Given the description of an element on the screen output the (x, y) to click on. 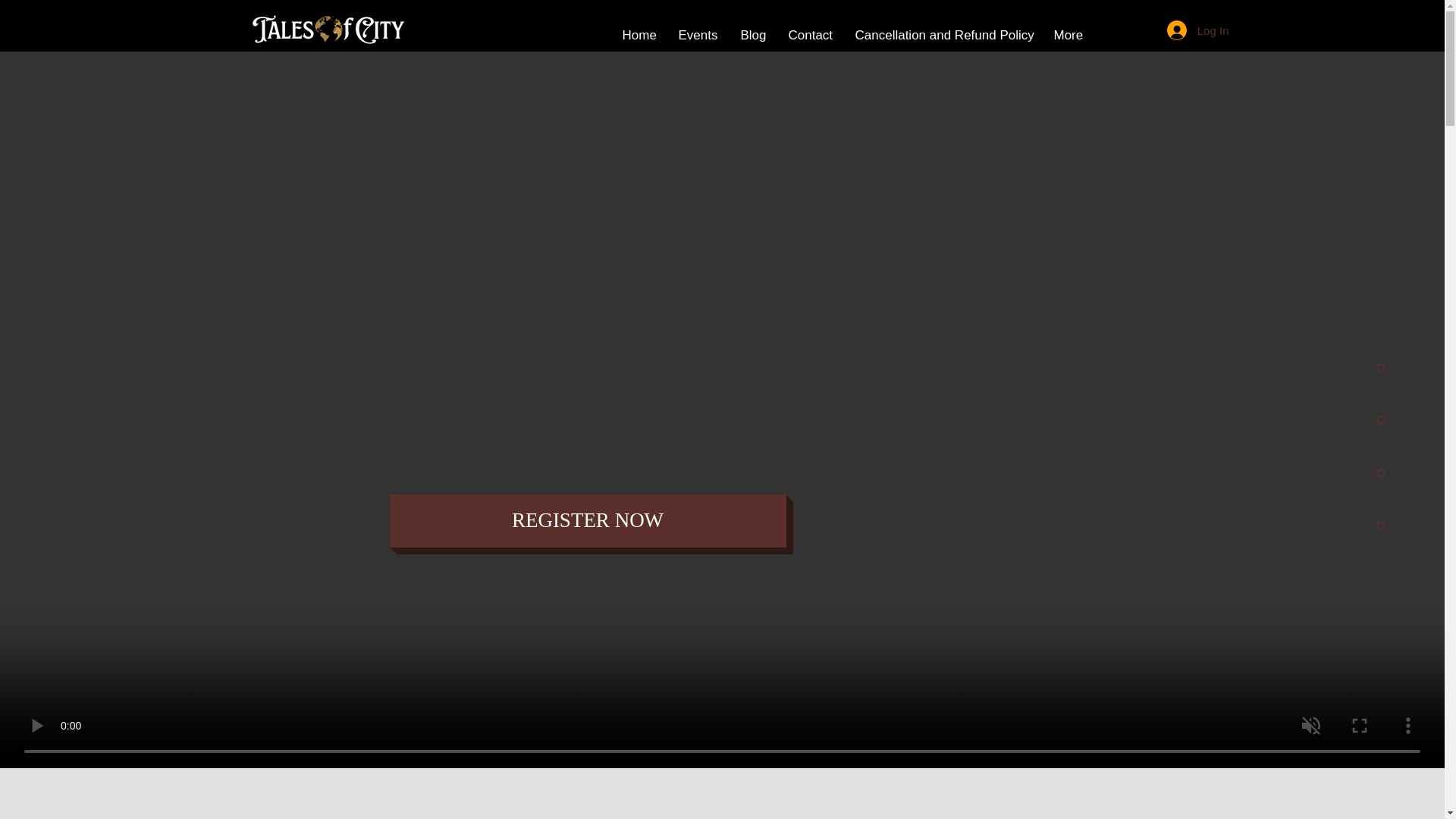
Cancellation and Refund Policy (942, 35)
Log In (1198, 30)
REGISTER NOW (588, 520)
Home (638, 35)
Blog (753, 35)
Events (697, 35)
Contact (809, 35)
